Given the description of an element on the screen output the (x, y) to click on. 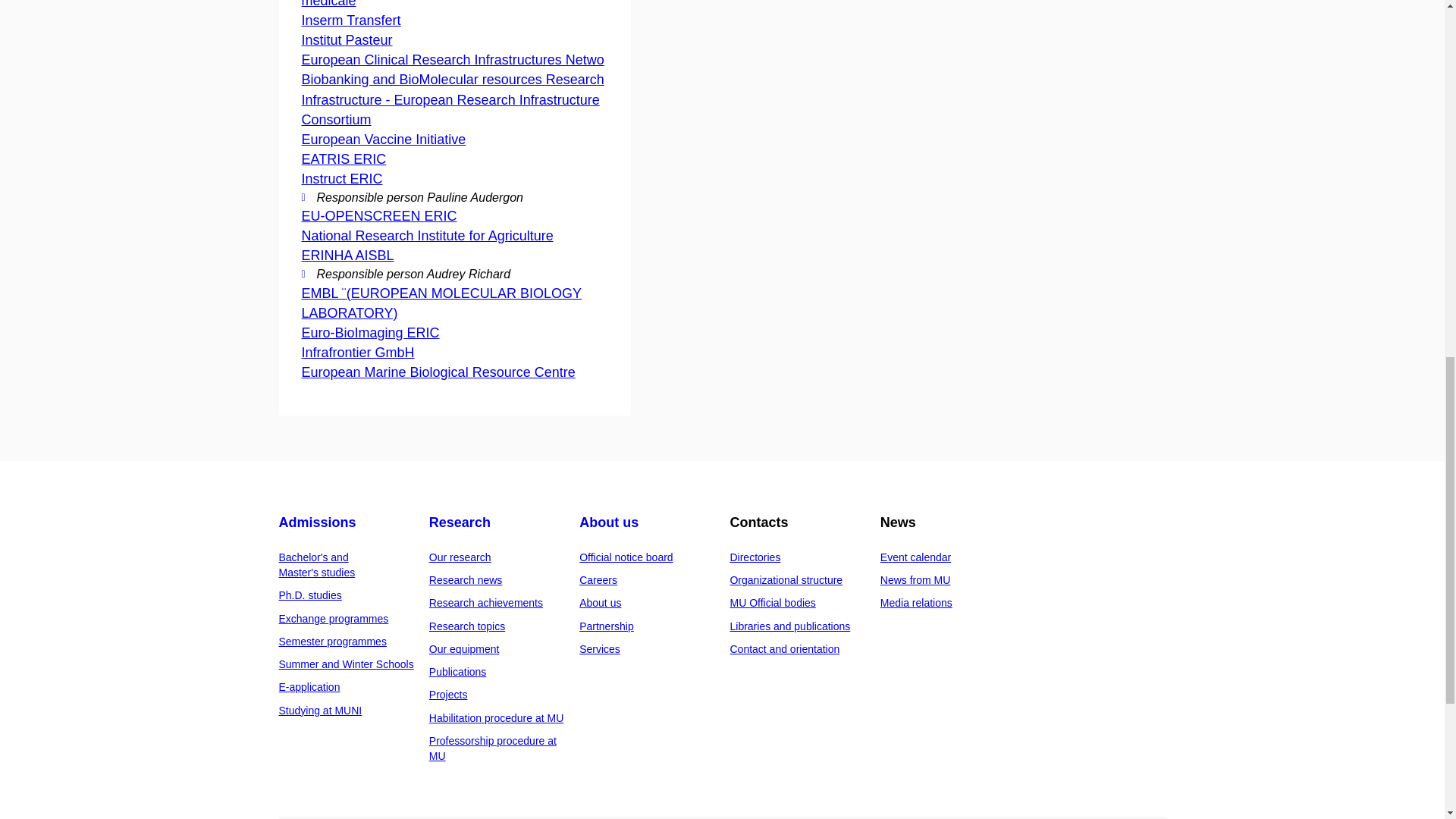
Projects (448, 694)
Research news (465, 580)
Exchange programmes (333, 618)
Ph.D. studies (310, 594)
Semester programmes (333, 641)
Studying at MUNI (320, 710)
Publications (457, 671)
Research (459, 522)
Research achievements (486, 603)
Our research (460, 557)
Admissions (317, 522)
Our equipment (464, 648)
Summer and Winter Schools (346, 664)
Research topics (467, 625)
